Given the description of an element on the screen output the (x, y) to click on. 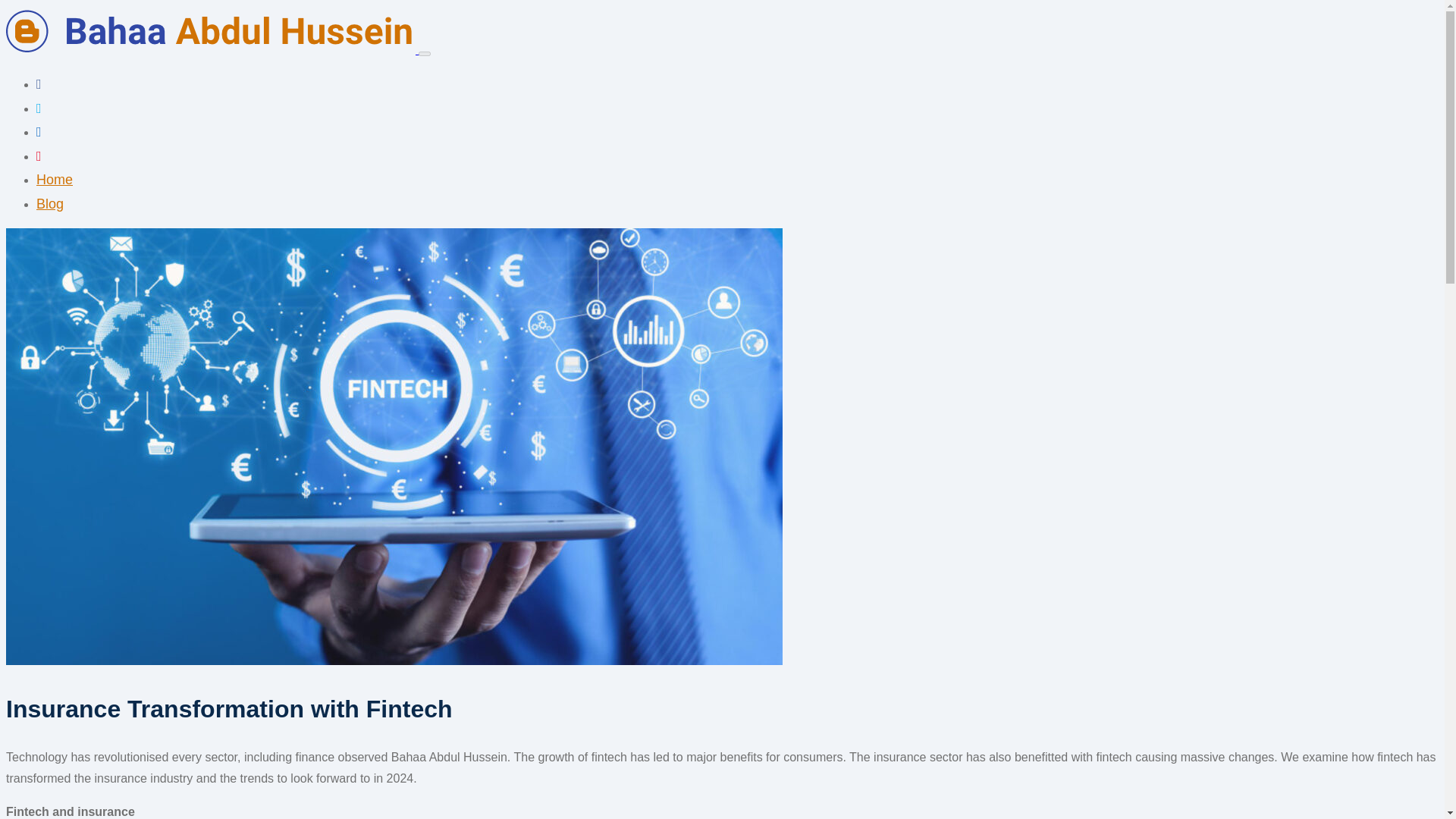
Home (54, 179)
Blog (50, 202)
